Given the description of an element on the screen output the (x, y) to click on. 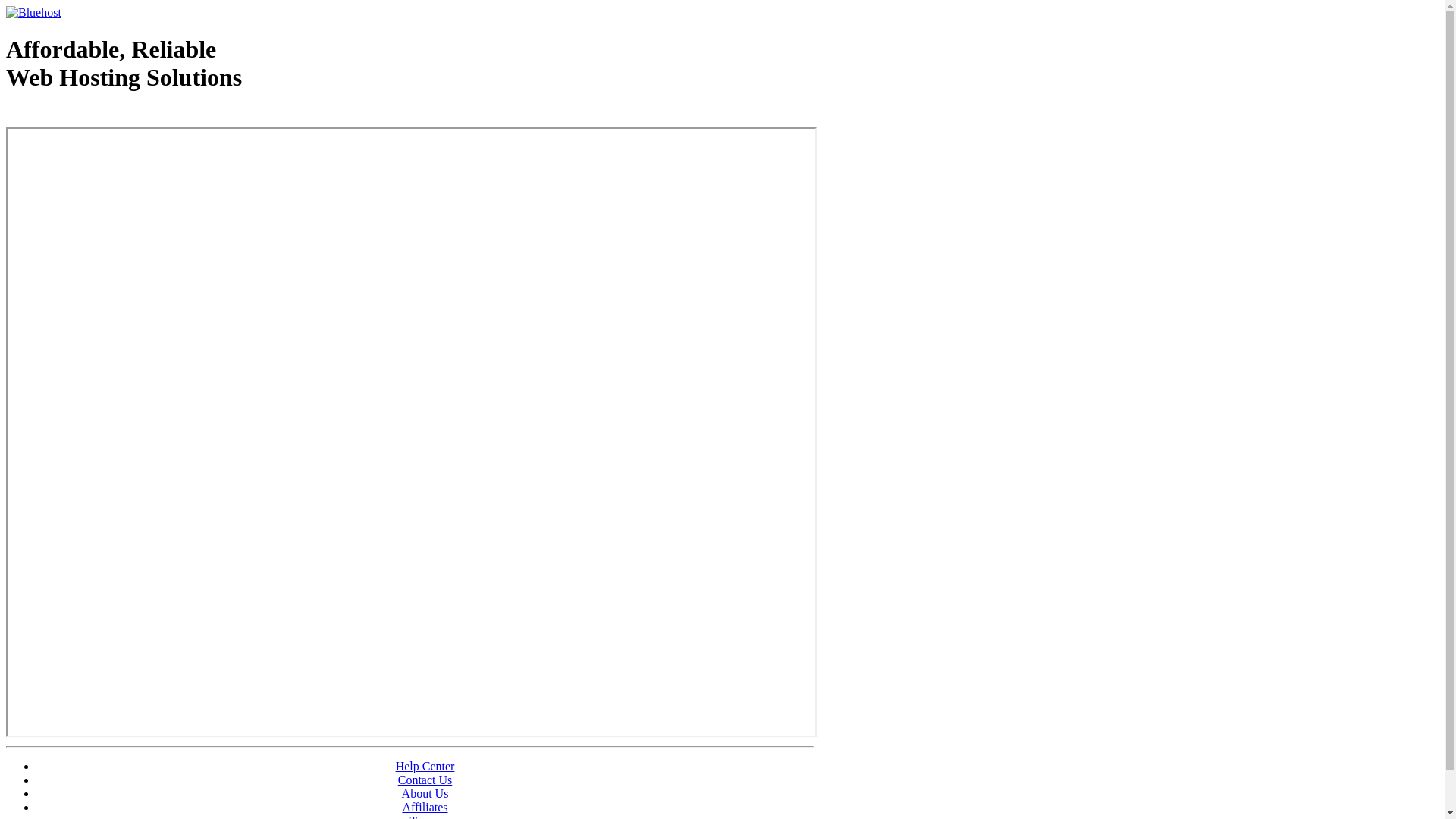
Web Hosting - courtesy of www.bluehost.com Element type: text (94, 115)
Contact Us Element type: text (425, 779)
About Us Element type: text (424, 793)
Help Center Element type: text (425, 765)
Affiliates Element type: text (424, 806)
